Given the description of an element on the screen output the (x, y) to click on. 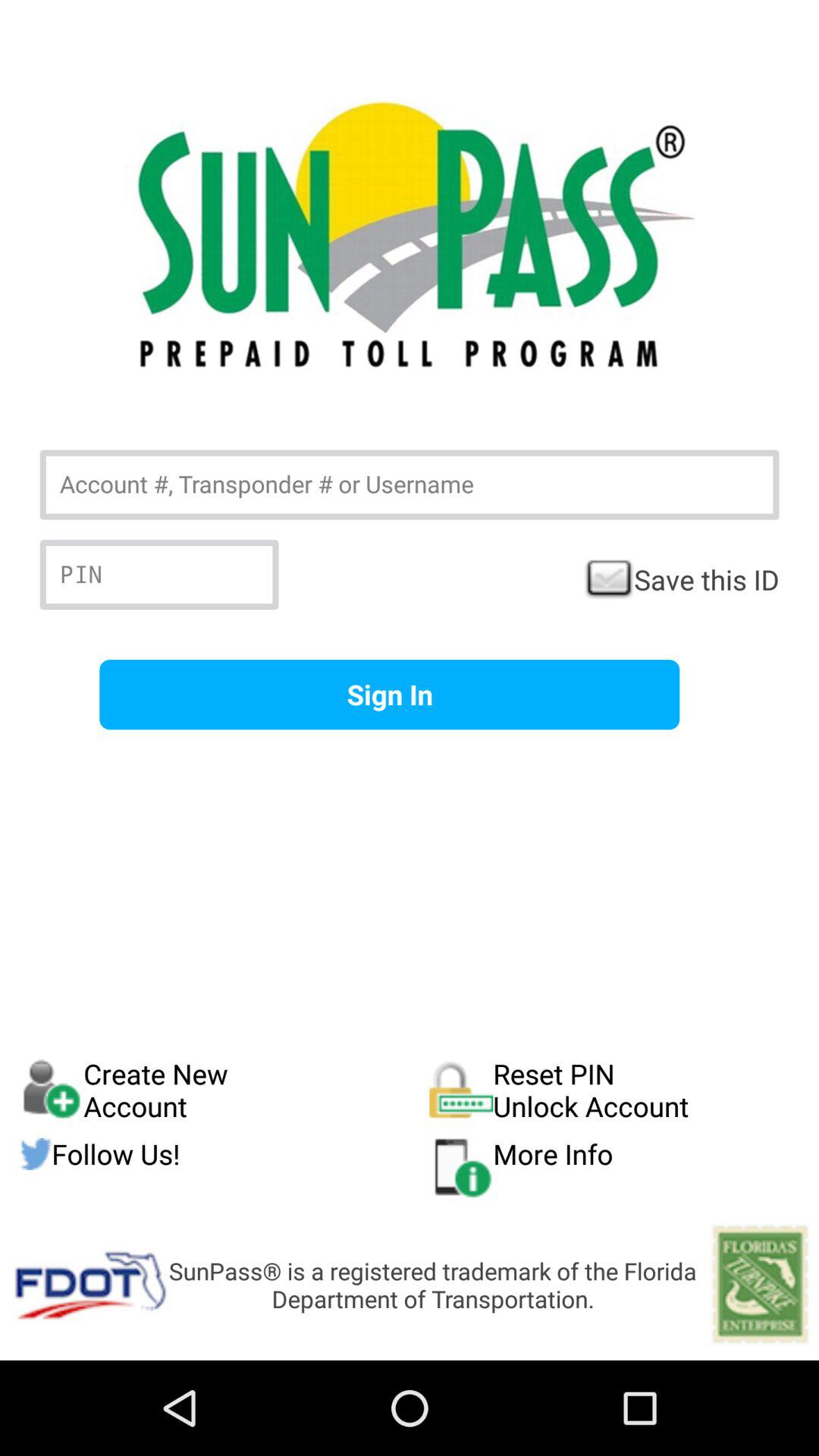
press the follow us! item (224, 1153)
